Given the description of an element on the screen output the (x, y) to click on. 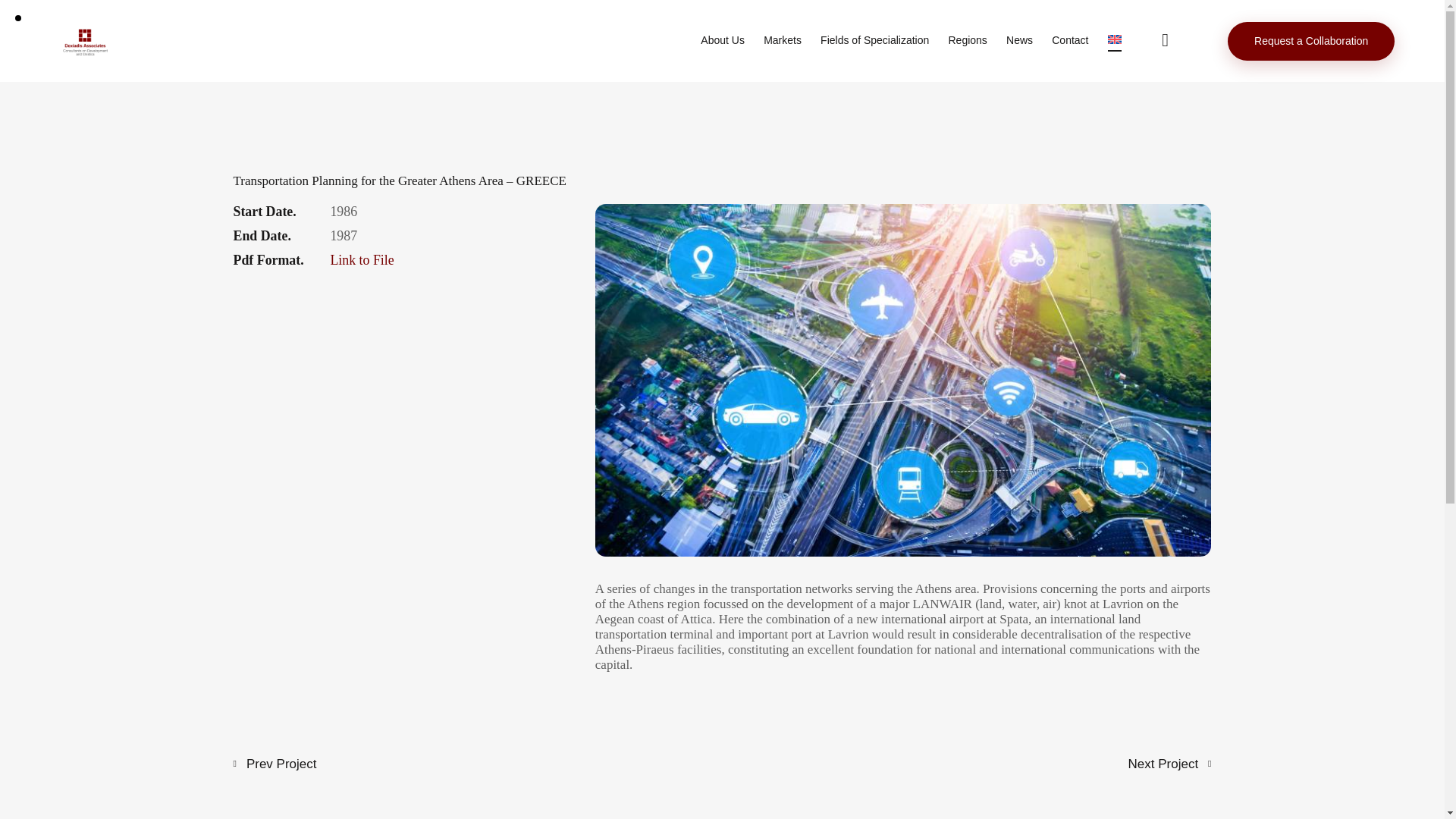
About Us (722, 40)
Markets (782, 40)
Fields of Specialization (874, 40)
